Given the description of an element on the screen output the (x, y) to click on. 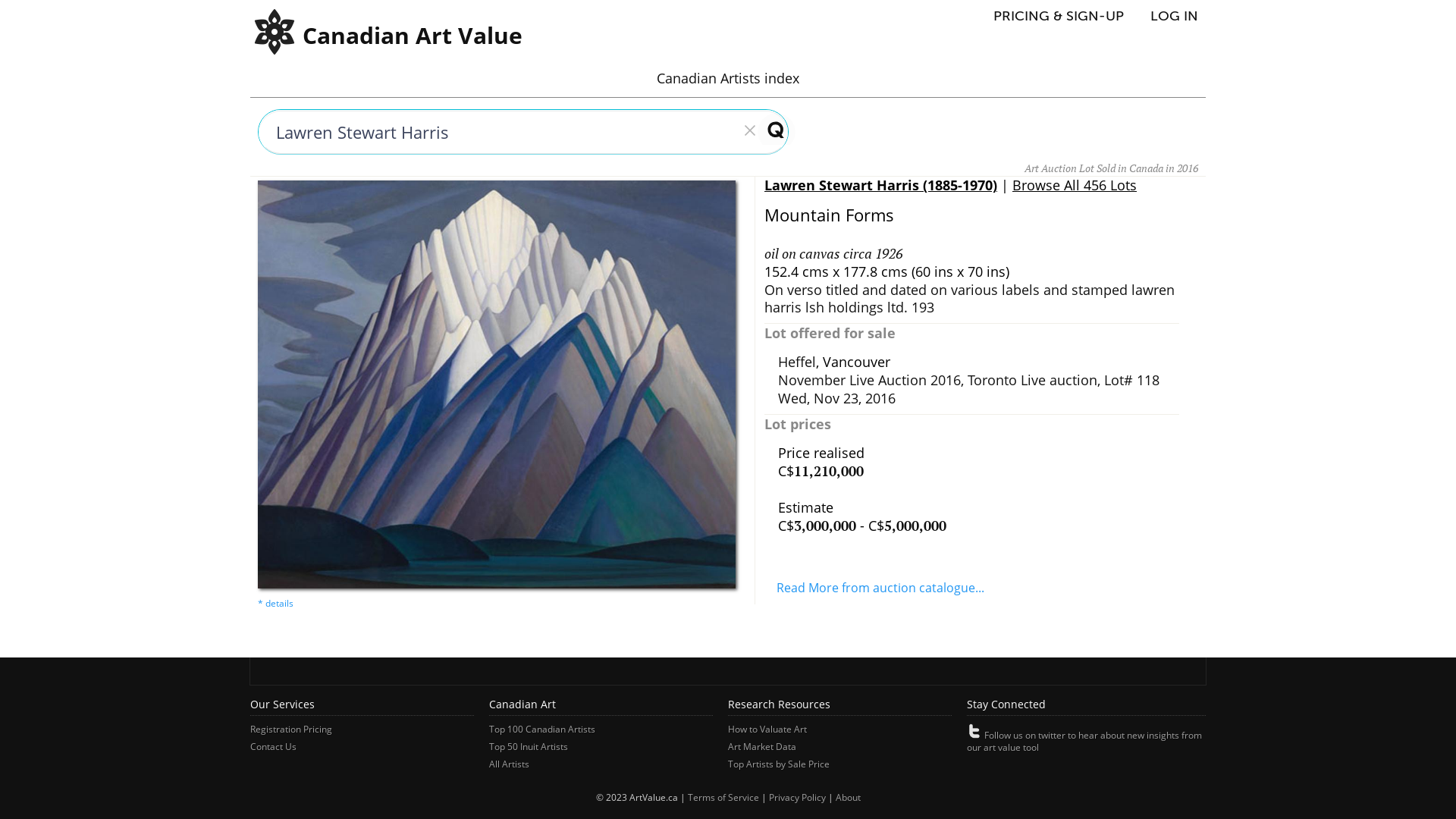
How to Valuate Art Element type: text (767, 728)
LOG IN Element type: text (1173, 15)
Terms of Service Element type: text (722, 796)
Lawren Stewart Harris (1885-1970) Element type: text (880, 184)
Canadian Artists index Element type: text (727, 77)
Registration Pricing Element type: text (291, 728)
Top Artists by Sale Price Element type: text (778, 763)
Browse All 456 Lots Element type: text (1074, 184)
Go Element type: text (767, 128)
Top 100 Canadian Artists Element type: text (542, 728)
zoom-in image Element type: hover (275, 600)
Art Market Data Element type: text (762, 746)
Canadian Art Value Element type: hover (274, 50)
PRICING & SIGN-UP Element type: text (1066, 15)
Contact Us Element type: text (273, 746)
Privacy Policy Element type: text (796, 796)
All Artists Element type: text (509, 763)
Top 50 Inuit Artists Element type: text (528, 746)
About Element type: text (847, 796)
